Given the description of an element on the screen output the (x, y) to click on. 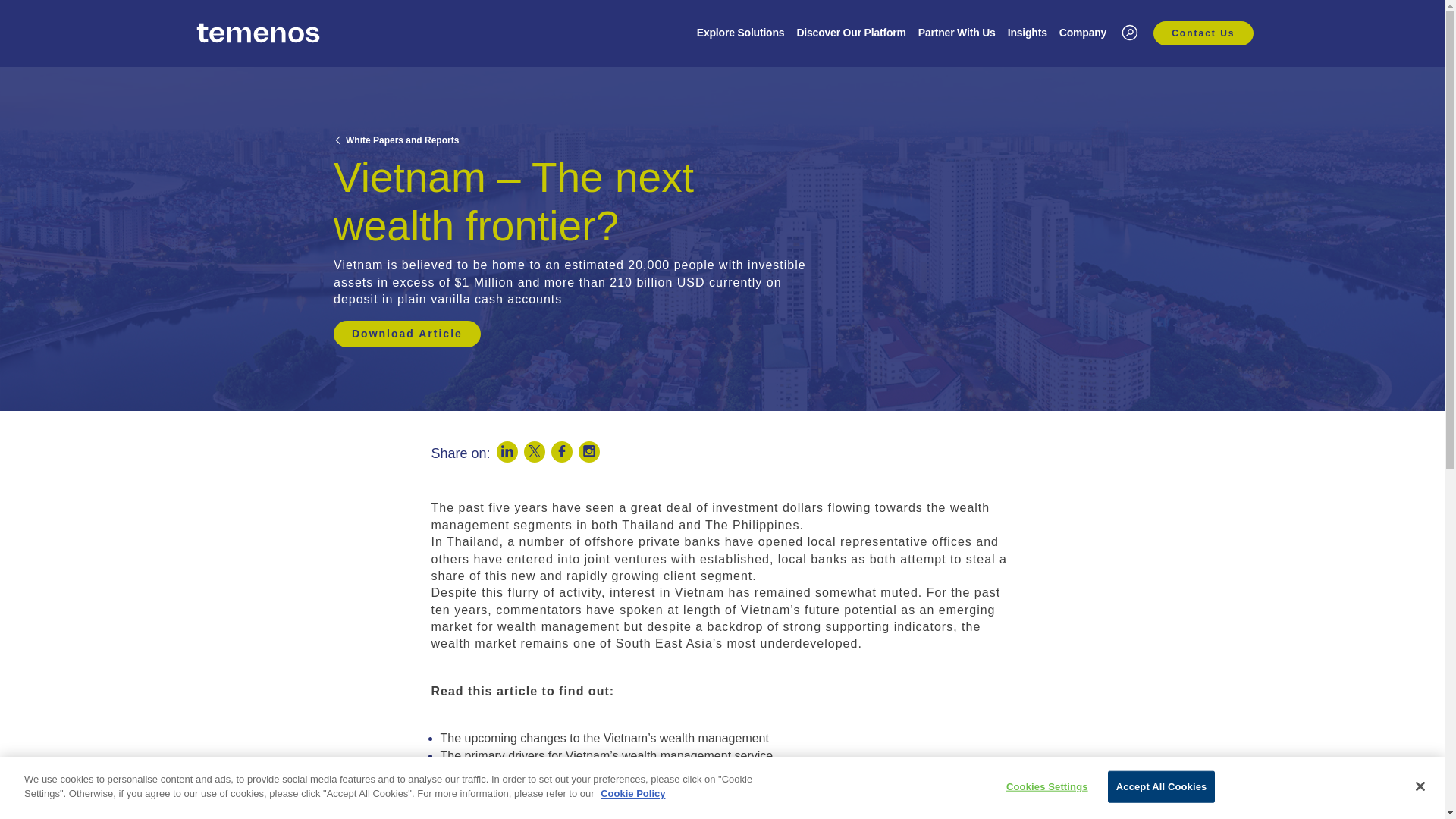
Explore Solutions (740, 34)
Partner With Us (956, 34)
Temenos (257, 32)
Insights (1026, 34)
Discover Our Platform (850, 34)
